Given the description of an element on the screen output the (x, y) to click on. 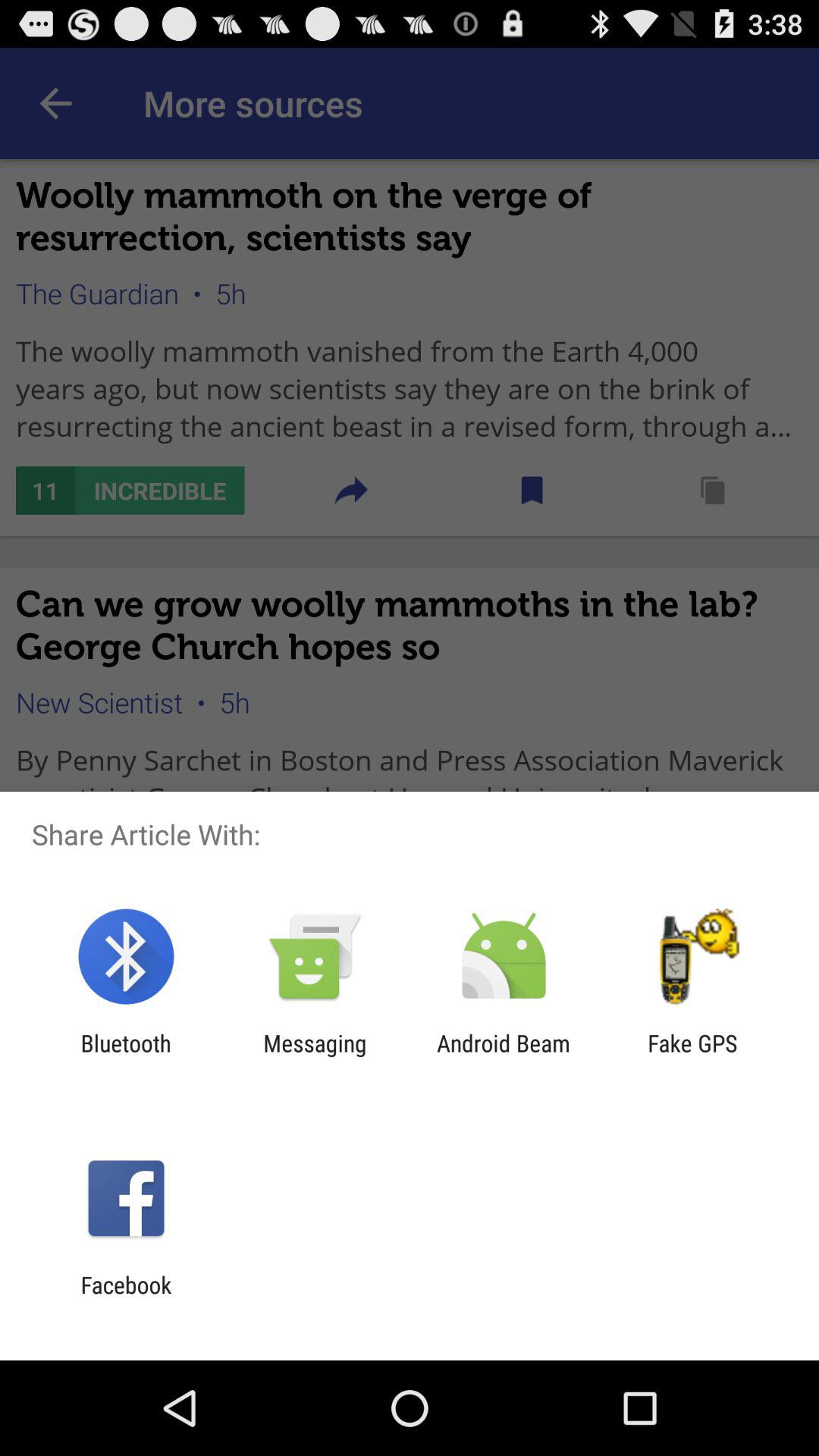
open the fake gps item (692, 1056)
